Given the description of an element on the screen output the (x, y) to click on. 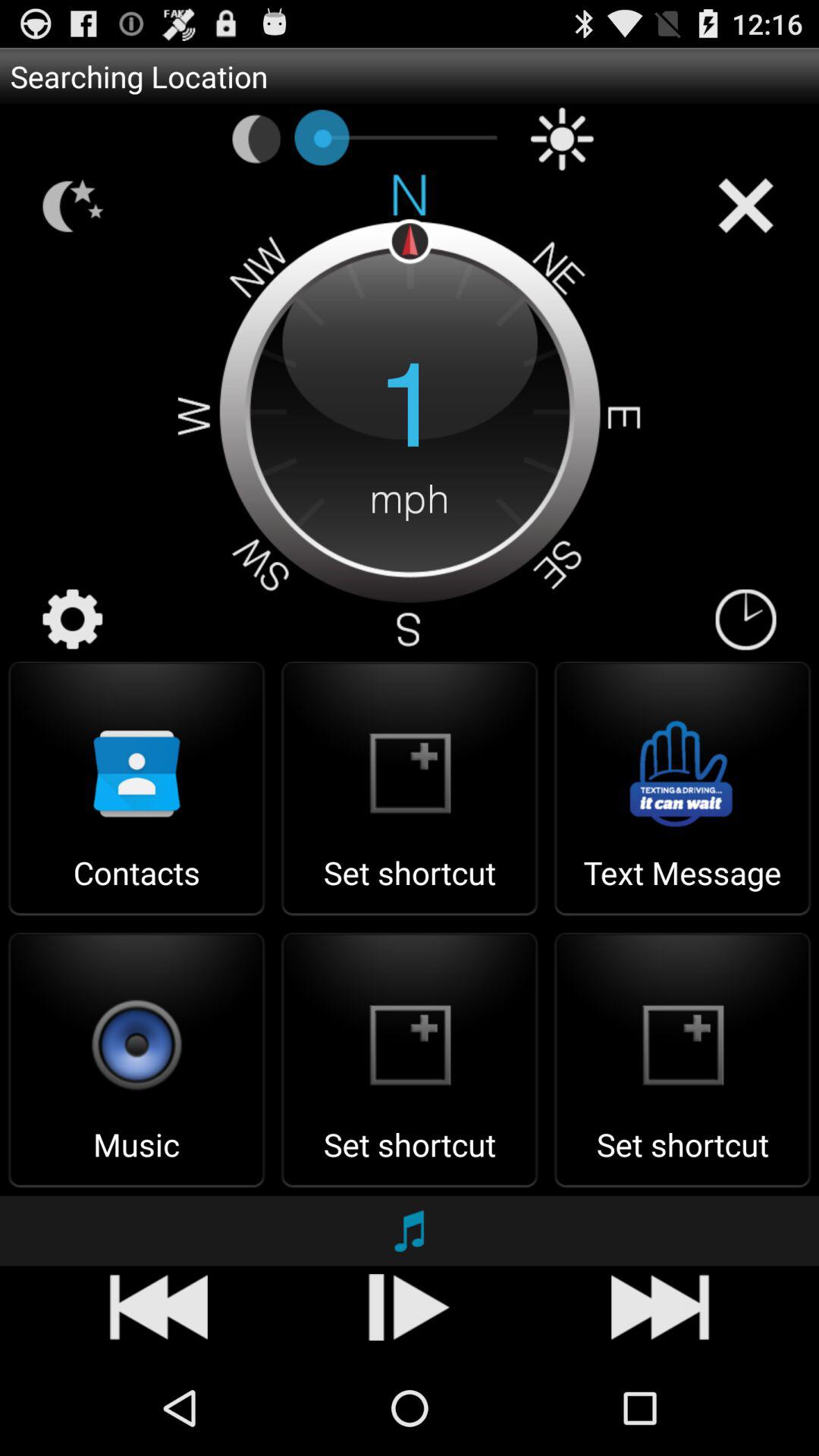
press app to the left of the 1 icon (72, 619)
